Given the description of an element on the screen output the (x, y) to click on. 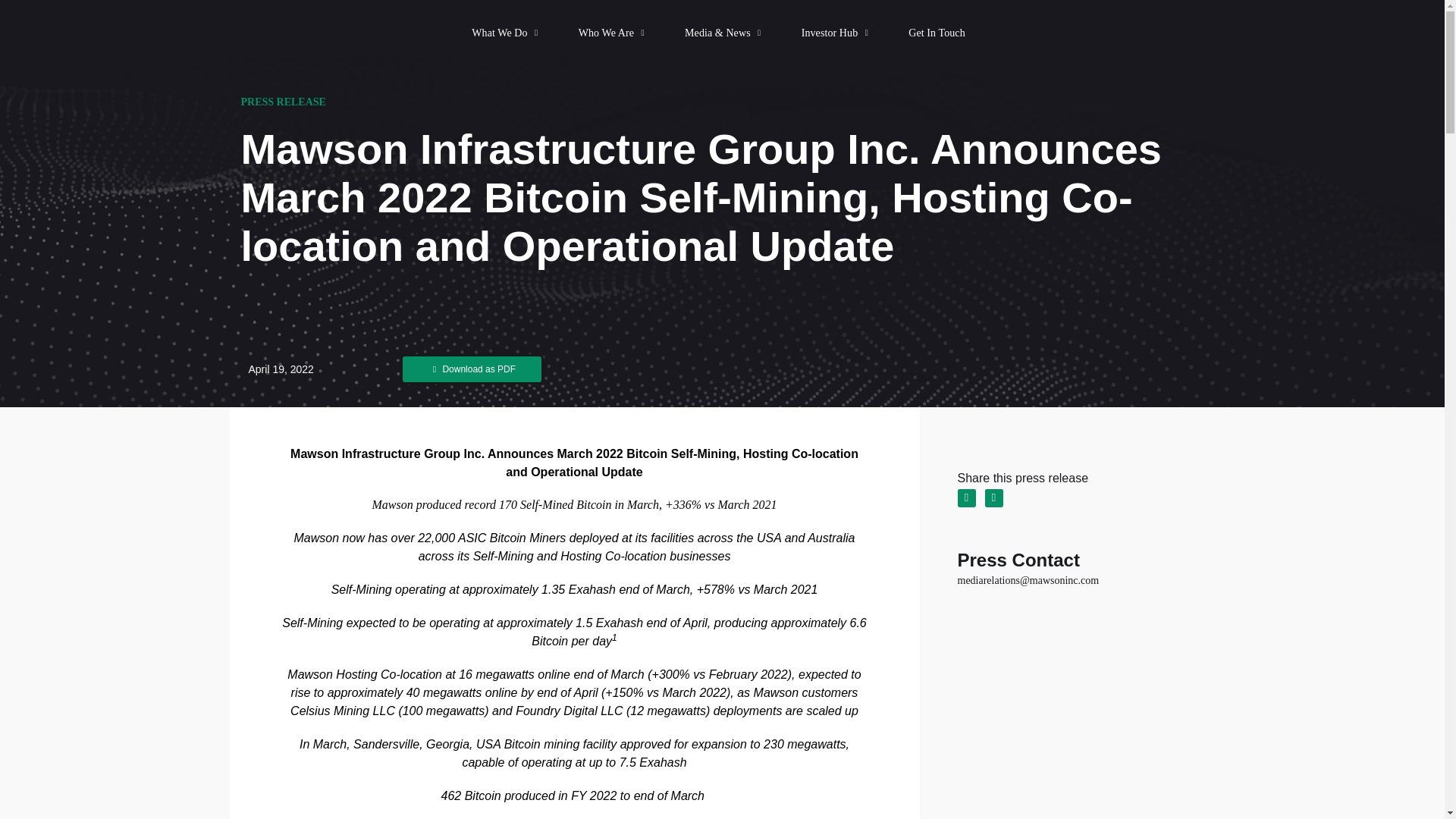
What We Do (505, 33)
Get In Touch (936, 33)
Who We Are (612, 33)
Investor Hub (836, 33)
